Given the description of an element on the screen output the (x, y) to click on. 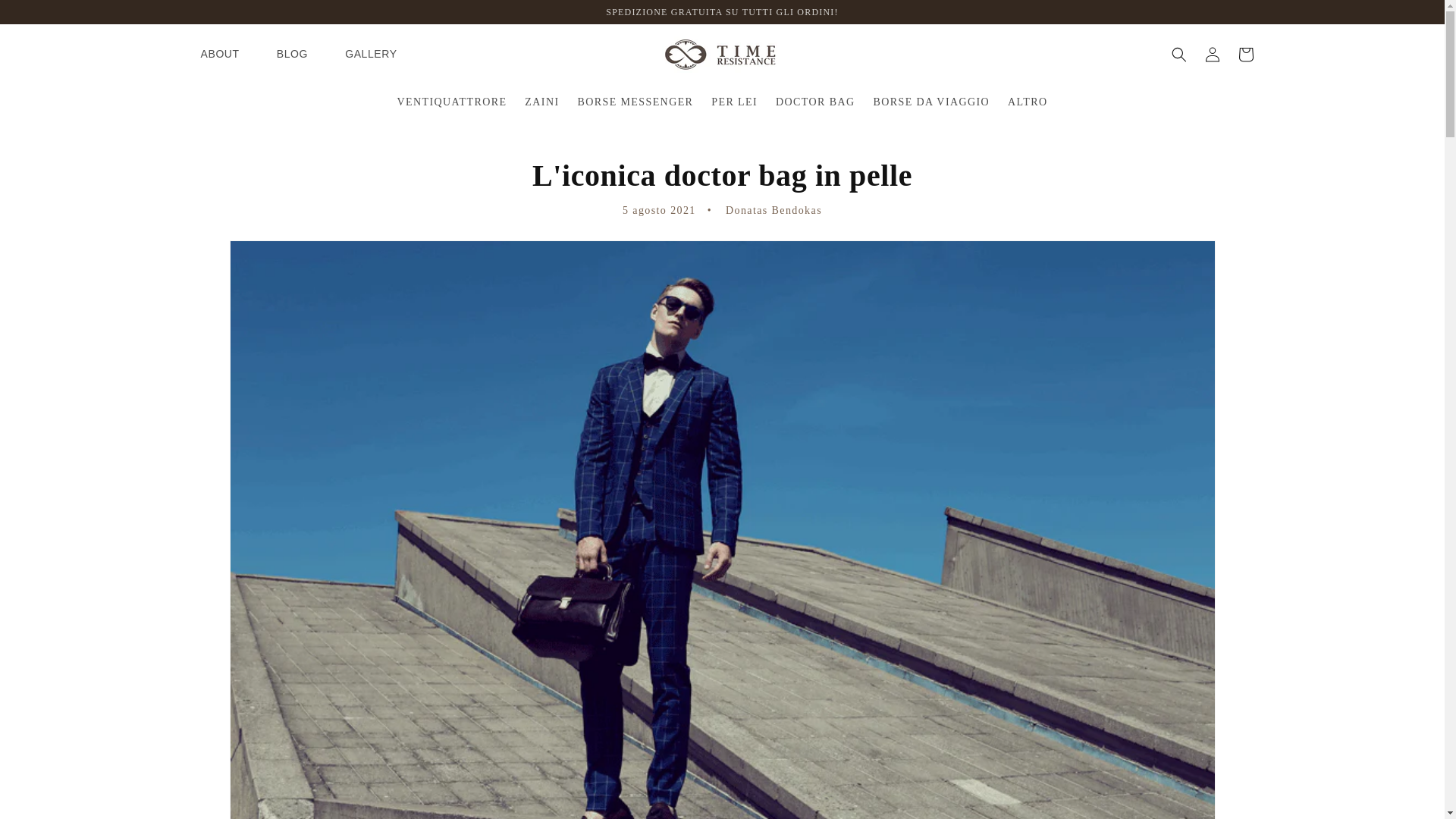
ZAINI (541, 101)
ABOUT (218, 54)
Accedi (1211, 54)
VENTIQUATTRORE (452, 101)
BORSE DA VIAGGIO (930, 101)
DOCTOR BAG (815, 101)
BLOG (292, 54)
Carrello (1245, 54)
BORSE MESSENGER (634, 101)
ALTRO (1027, 101)
PER LEI (734, 101)
GALLERY (371, 54)
